Given the description of an element on the screen output the (x, y) to click on. 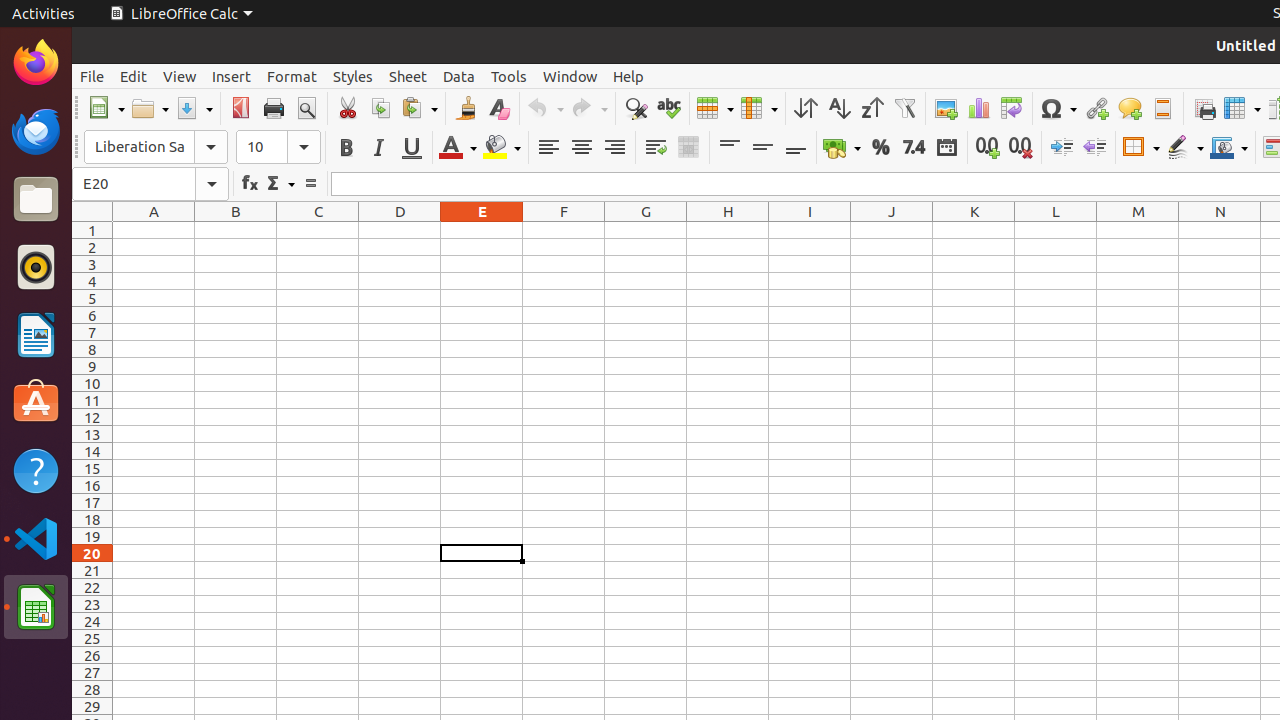
Format Element type: menu (292, 76)
Border Style Element type: push-button (1185, 147)
E1 Element type: table-cell (482, 230)
Decrease Element type: push-button (1094, 147)
D1 Element type: table-cell (400, 230)
